Given the description of an element on the screen output the (x, y) to click on. 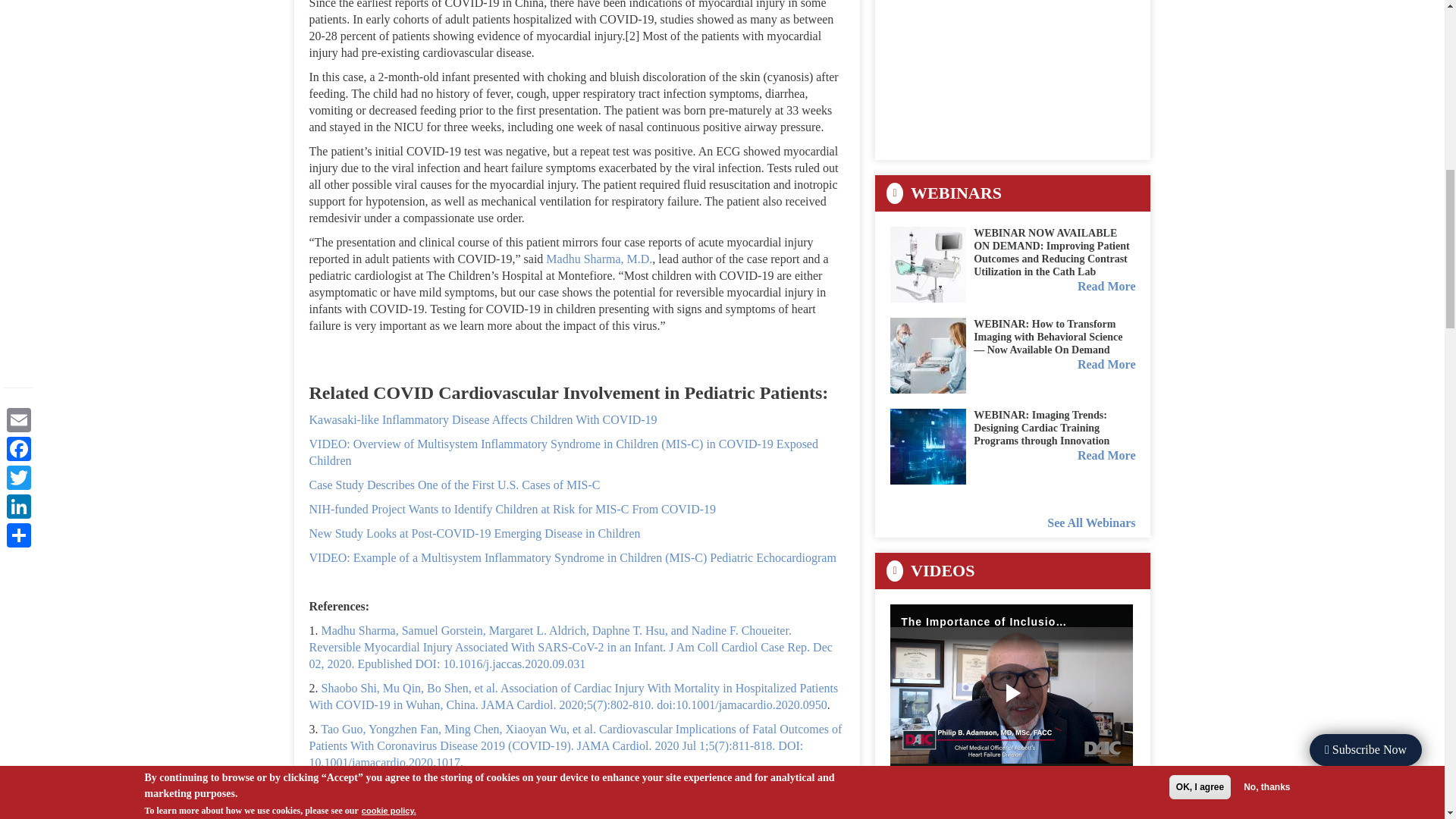
3rd party ad content (1003, 72)
Play Video (1011, 695)
